Given the description of an element on the screen output the (x, y) to click on. 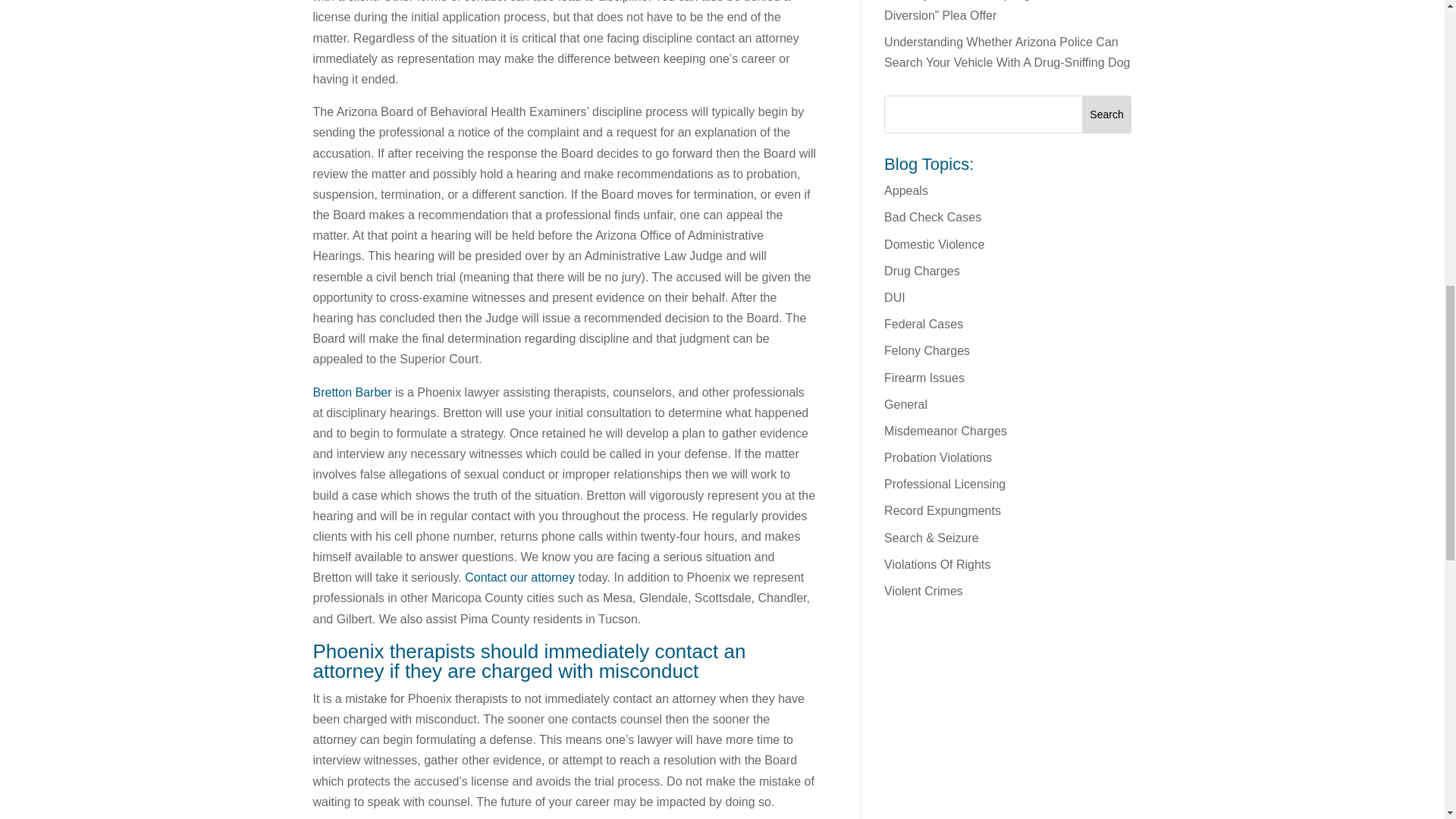
Search (1106, 114)
